Given the description of an element on the screen output the (x, y) to click on. 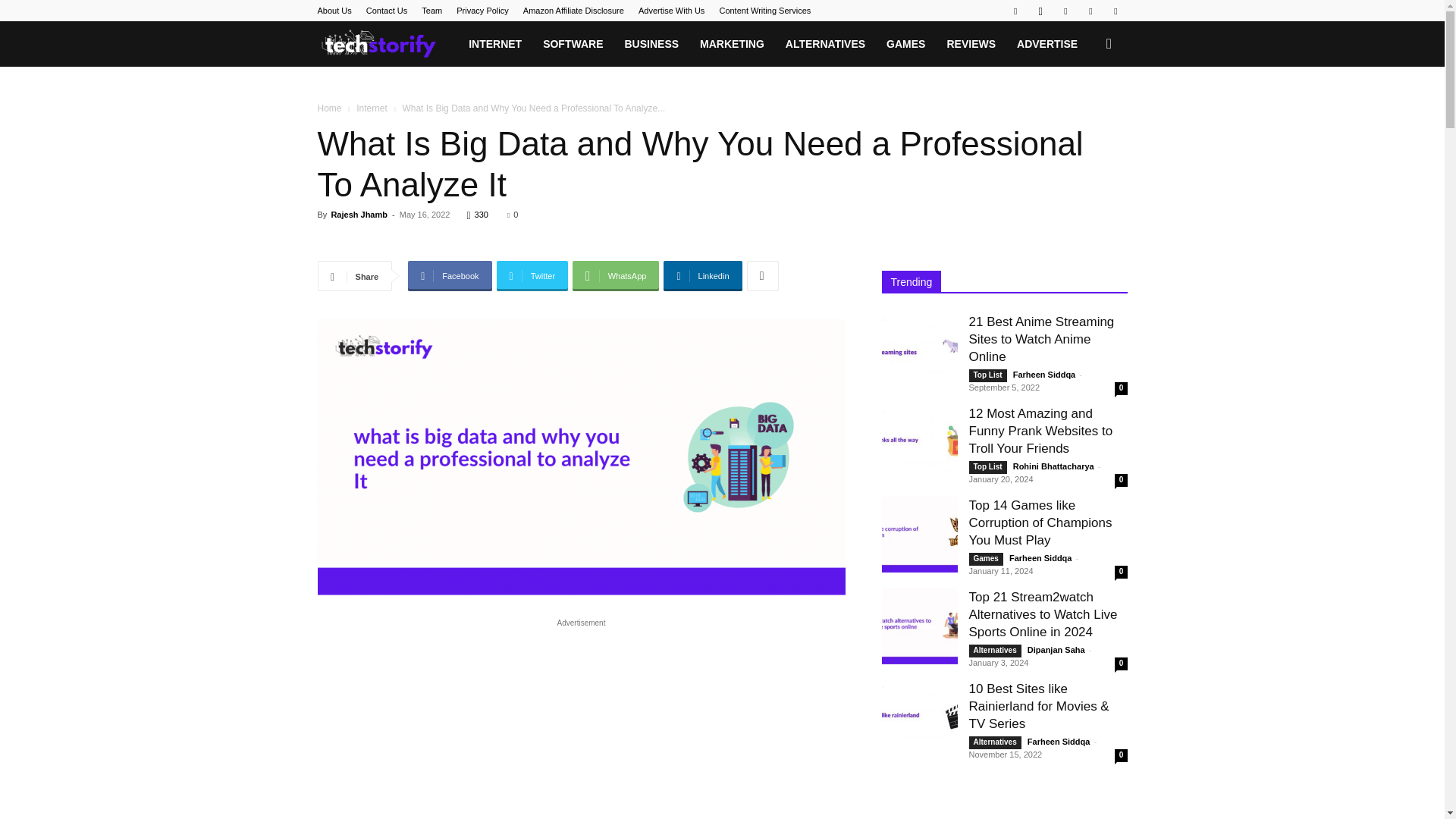
TechStorify (387, 44)
BUSINESS (650, 43)
Twitter (532, 276)
Advertise With Us (671, 10)
MARKETING (731, 43)
Contact Us (386, 10)
View all posts in Internet (371, 108)
GAMES (906, 43)
topFacebookLike (430, 242)
About Us (333, 10)
